Given the description of an element on the screen output the (x, y) to click on. 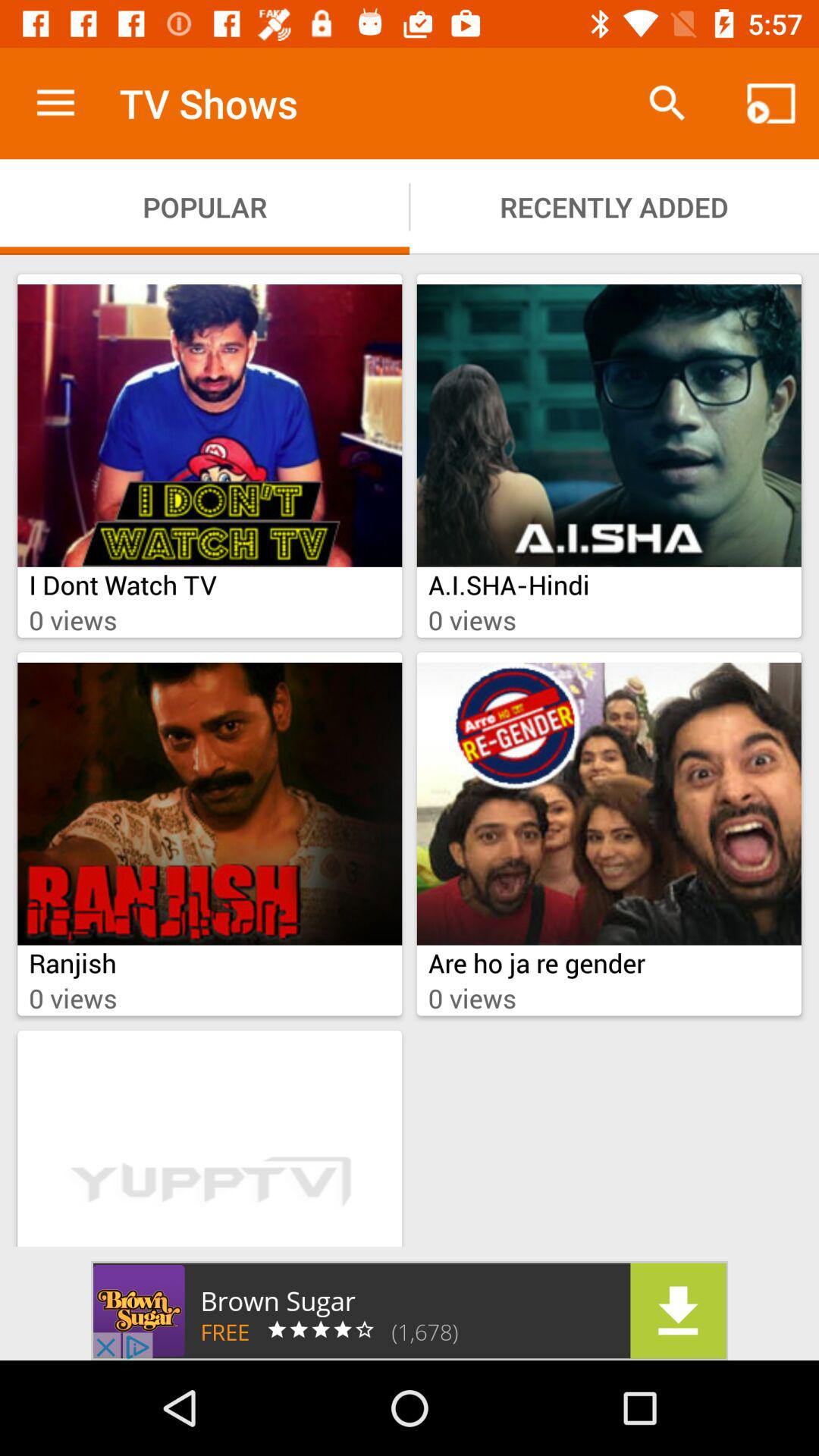
go to brown sugar (409, 1310)
